Given the description of an element on the screen output the (x, y) to click on. 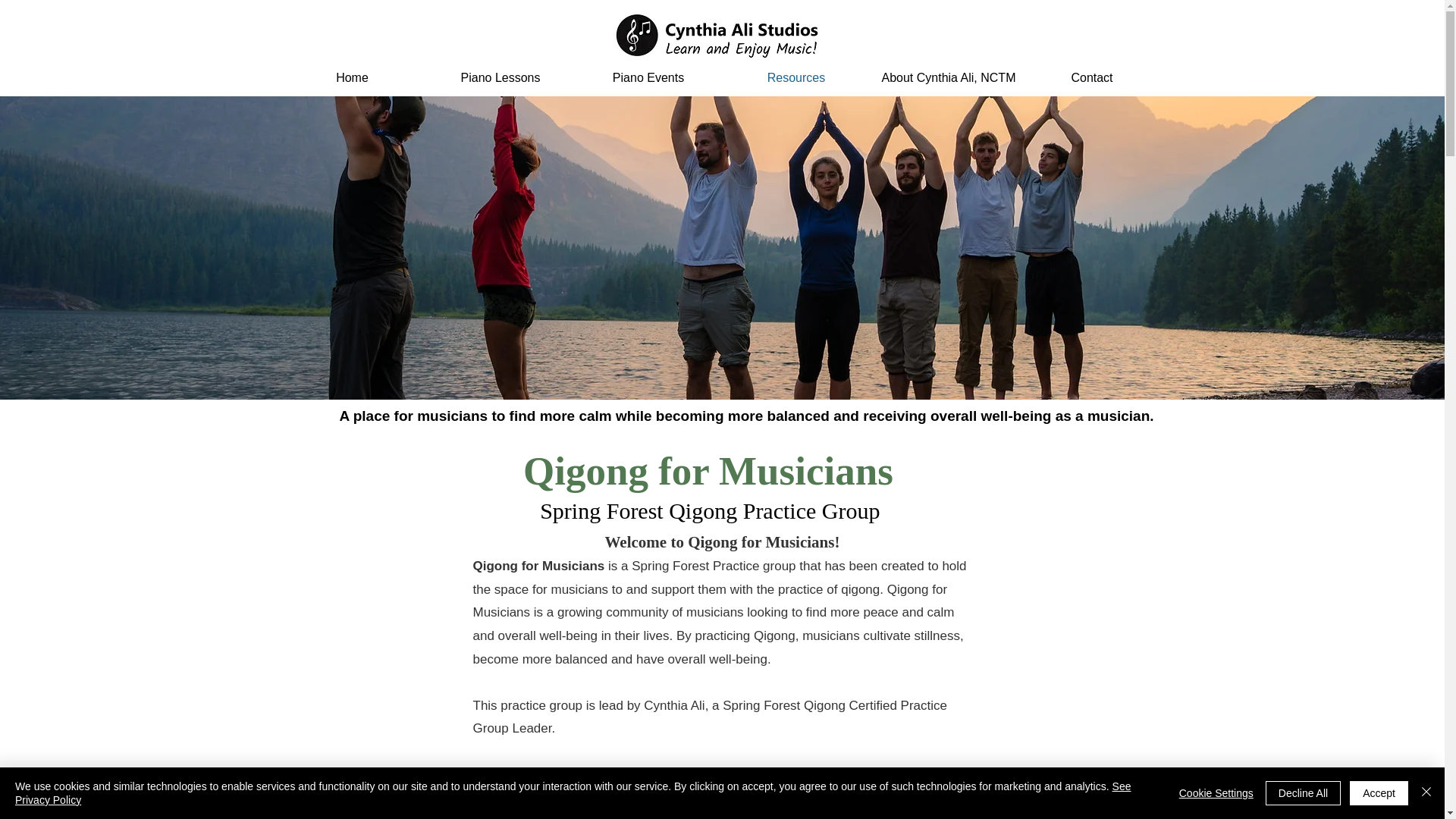
Piano Lessons (499, 76)
About Cynthia Ali, NCTM (943, 76)
Resources (795, 76)
Contact (1091, 76)
Piano Events (648, 76)
Home (352, 76)
